Given the description of an element on the screen output the (x, y) to click on. 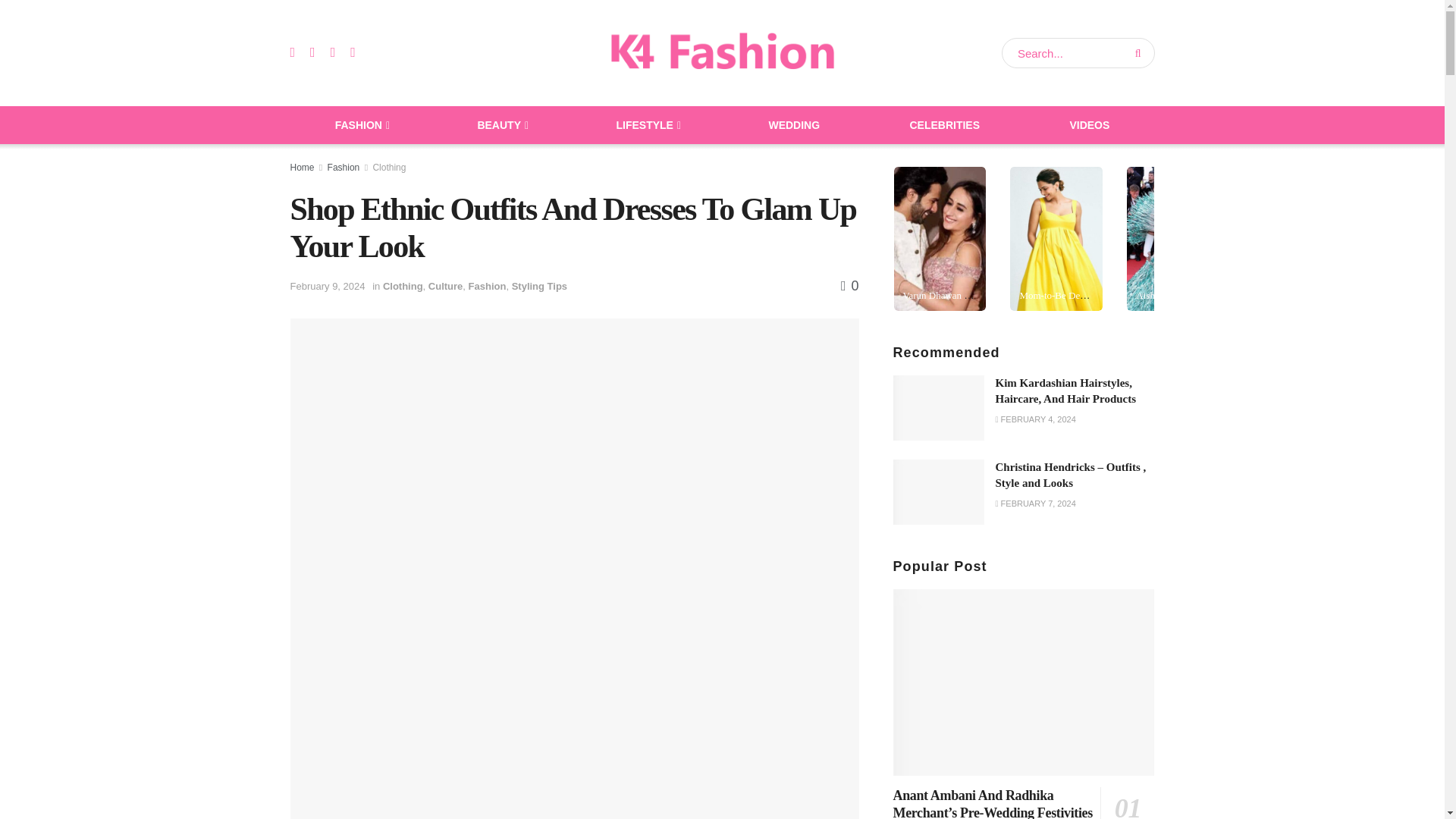
CELEBRITIES (944, 125)
BEAUTY (501, 125)
WEDDING (793, 125)
FASHION (360, 125)
LIFESTYLE (646, 125)
VIDEOS (1089, 125)
